Given the description of an element on the screen output the (x, y) to click on. 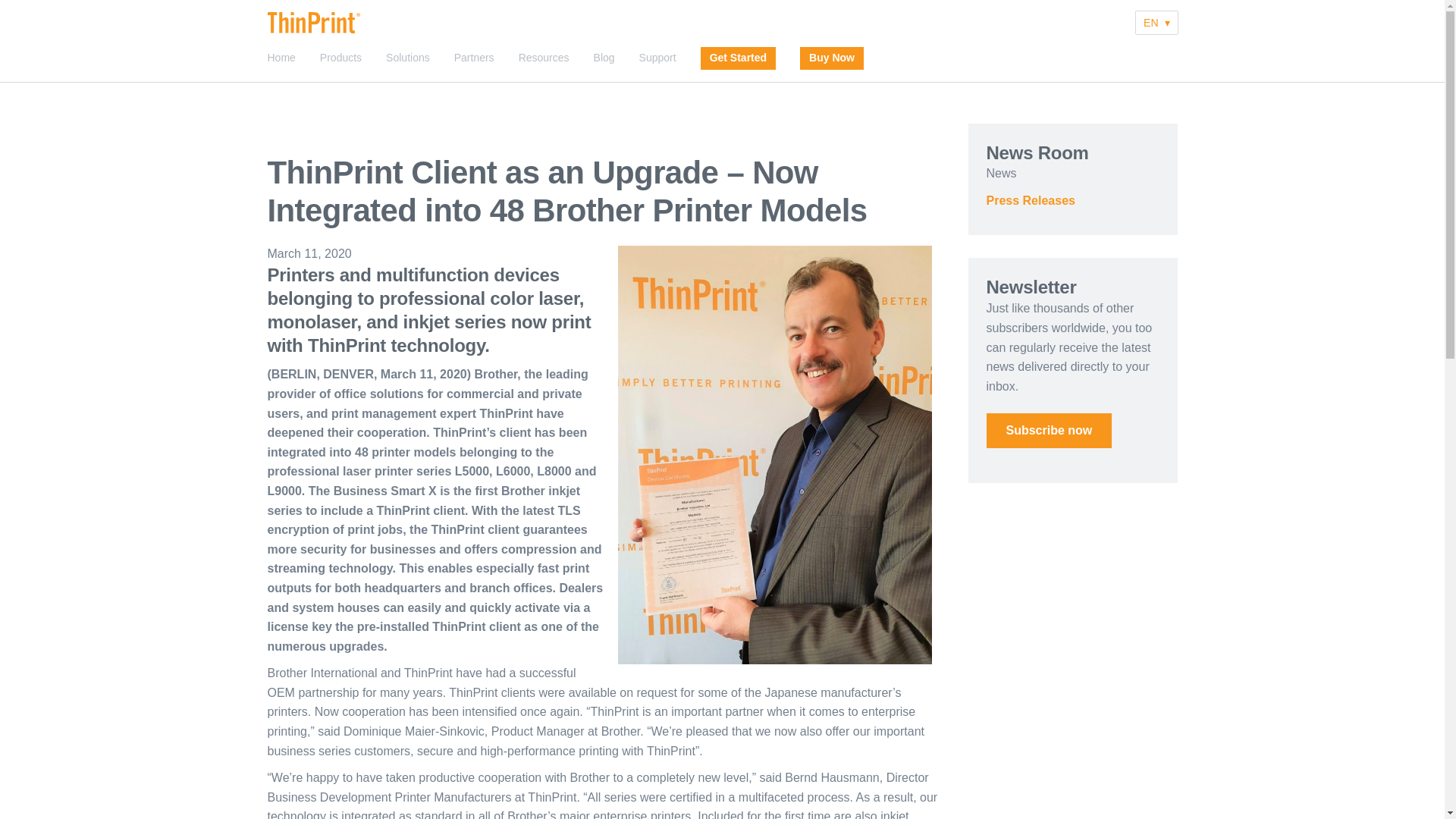
News (1000, 173)
Subscribe now (1048, 430)
Newsletter (1048, 430)
Get Started (738, 57)
EN (1155, 22)
Resources (543, 57)
Buy Now (831, 57)
Solutions (407, 57)
Press Releases (1029, 200)
